Given the description of an element on the screen output the (x, y) to click on. 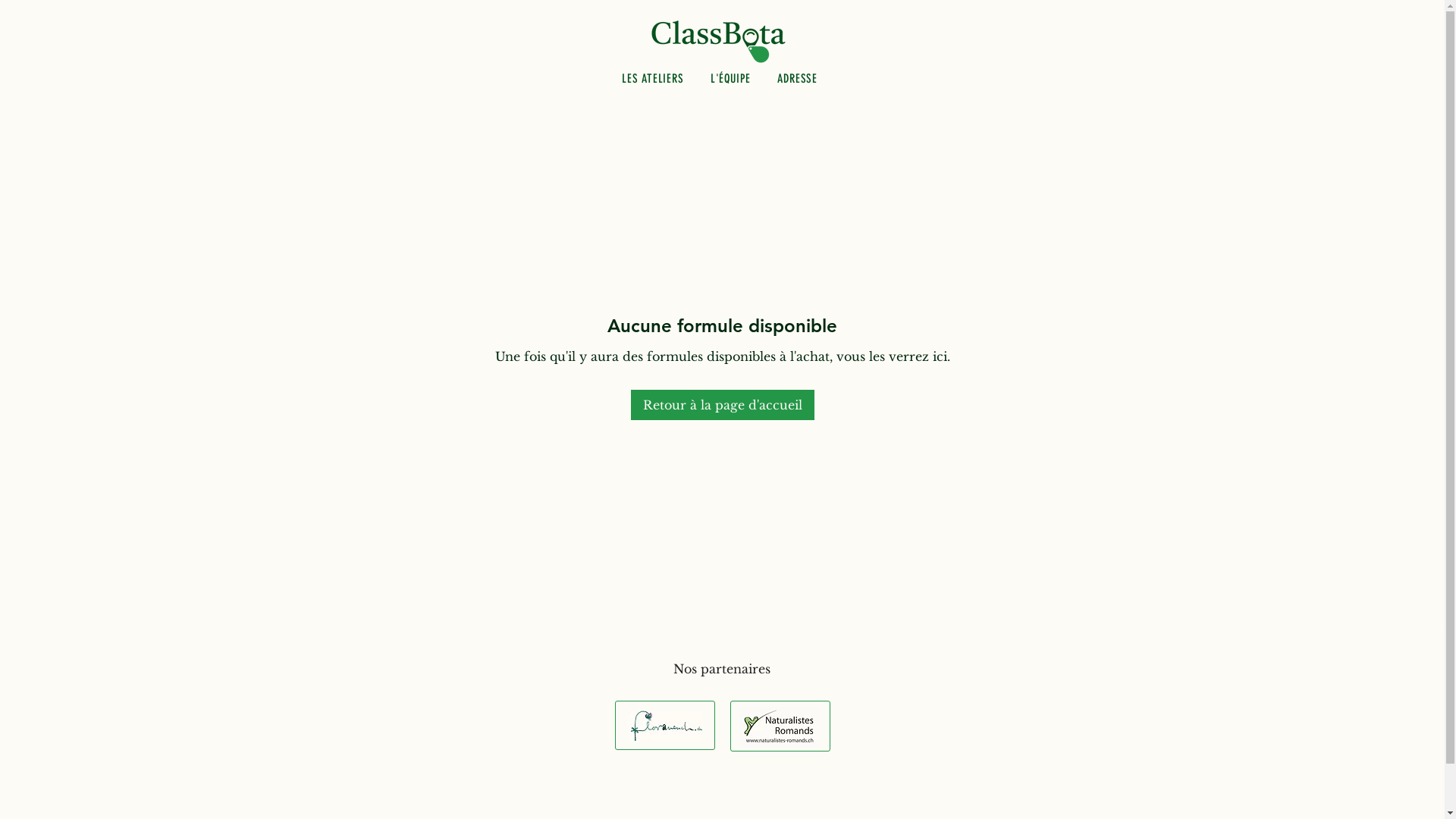
ADRESSE Element type: text (797, 78)
LES ATELIERS Element type: text (652, 78)
